Given the description of an element on the screen output the (x, y) to click on. 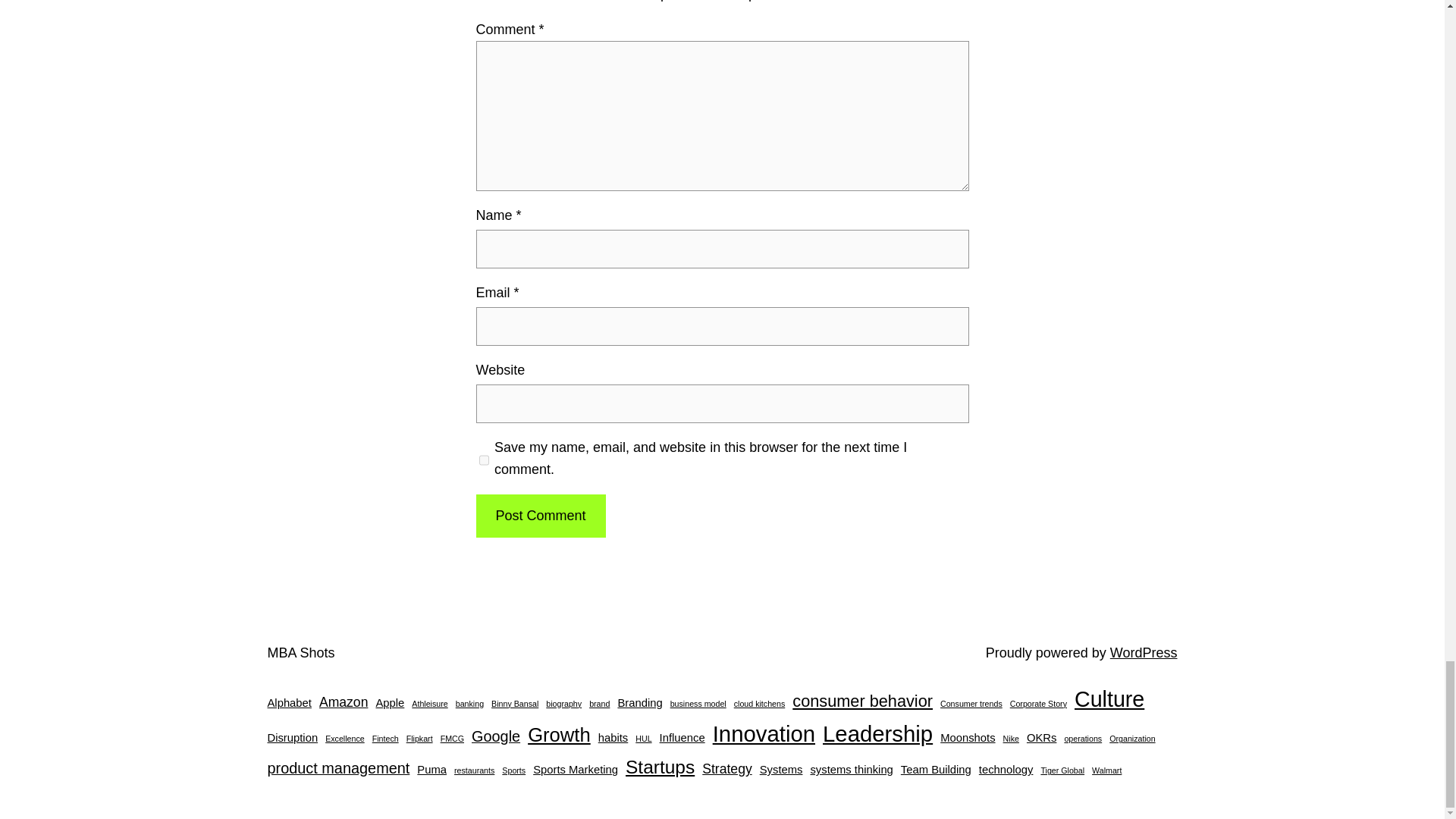
business model (697, 703)
Moonshots (967, 738)
Fintech (385, 738)
Flipkart (419, 738)
Innovation (764, 734)
OKRs (1041, 738)
WordPress (1143, 652)
Post Comment (540, 515)
Disruption (291, 738)
Alphabet (288, 703)
Amazon (343, 701)
Growth (559, 735)
Google (495, 736)
Binny Bansal (515, 703)
MBA Shots (300, 652)
